Given the description of an element on the screen output the (x, y) to click on. 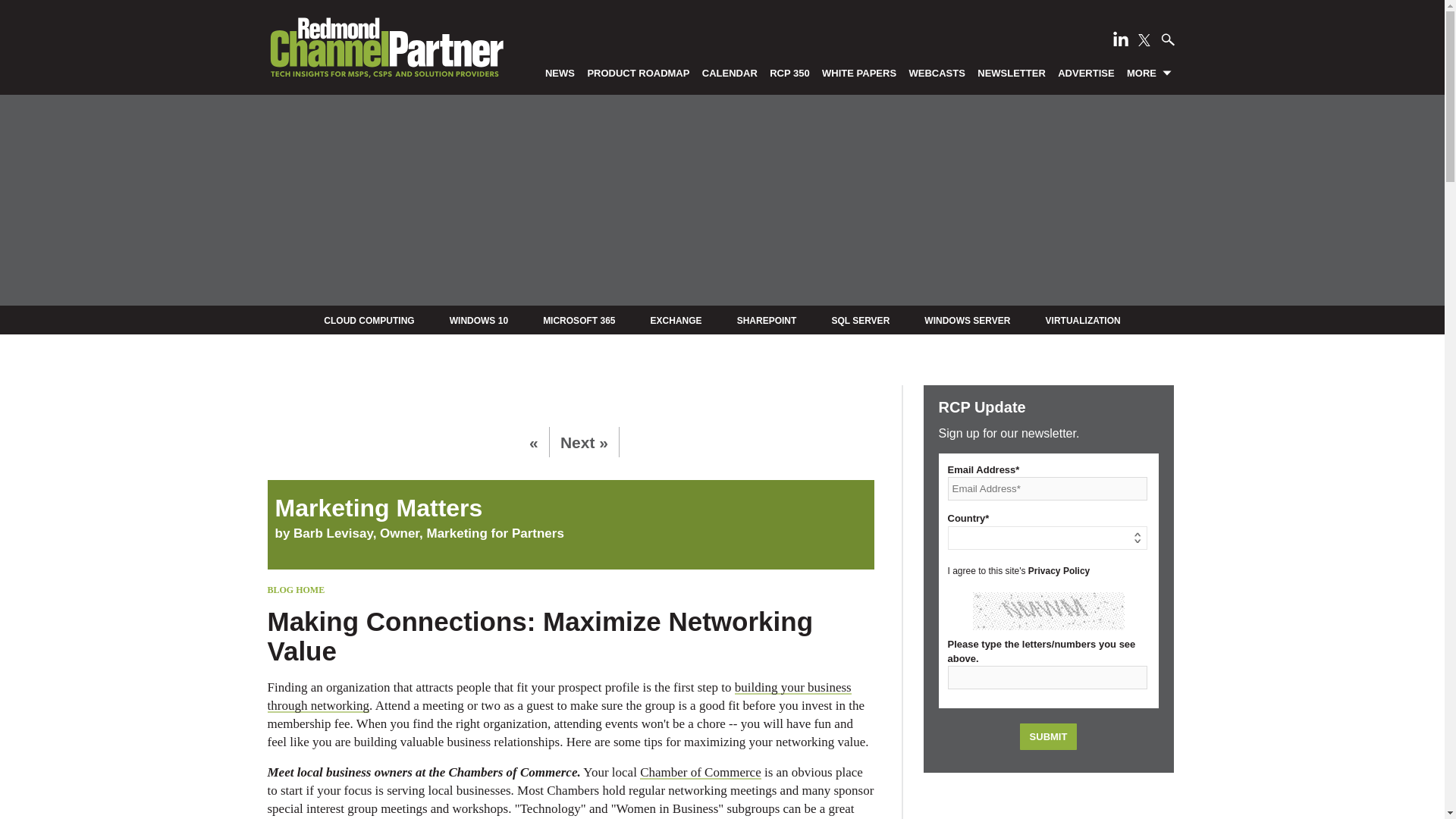
MORE (1149, 72)
WINDOWS SERVER (967, 320)
CALENDAR (729, 72)
WINDOWS 10 (478, 320)
Submit (1048, 736)
SHAREPOINT (766, 320)
Blog archive (569, 507)
RCP 350 (790, 72)
3rd party ad content (1047, 803)
WEBCASTS (936, 72)
